Given the description of an element on the screen output the (x, y) to click on. 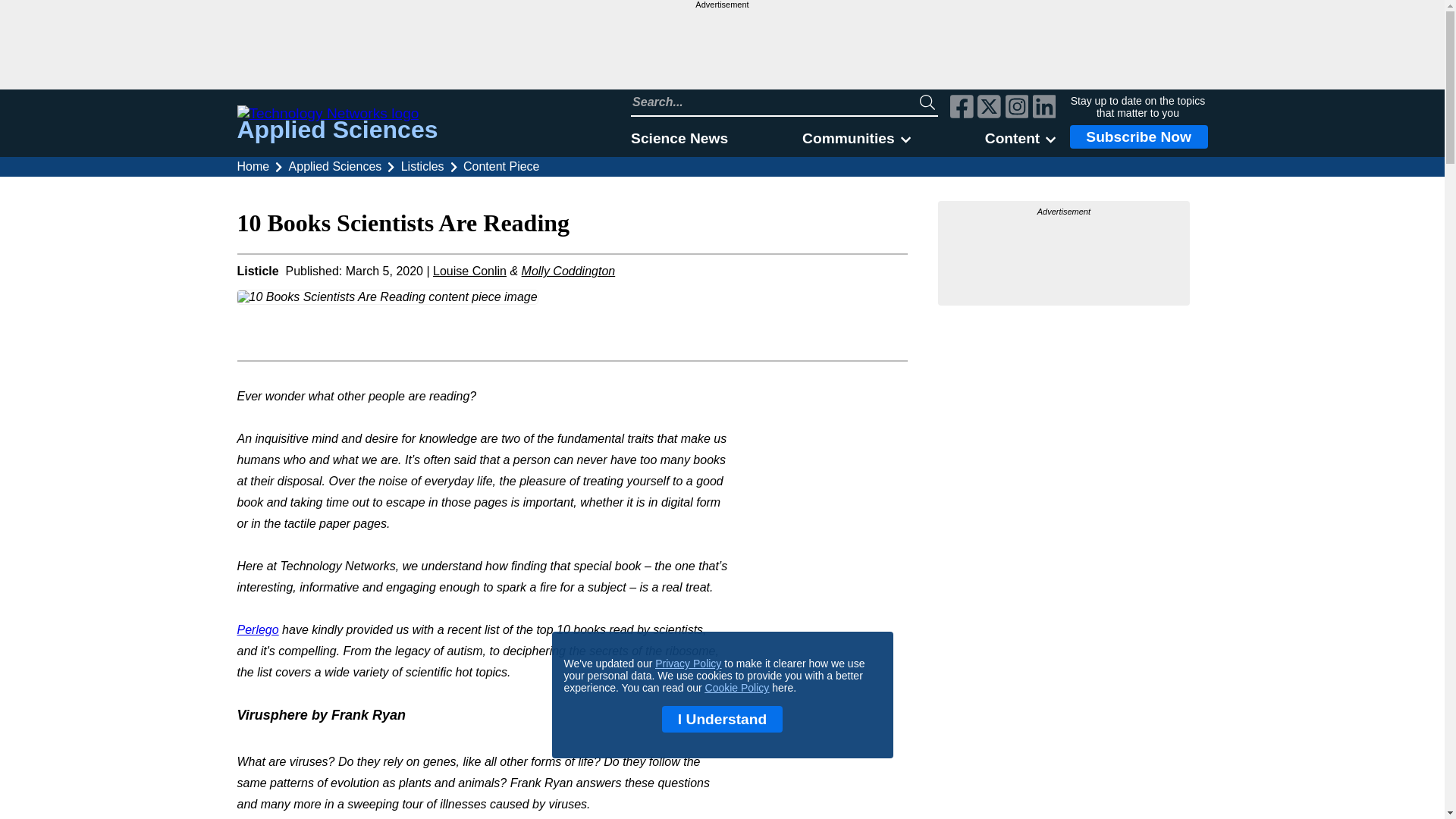
Cookie Policy (737, 687)
Search Technology Networks website input field (775, 102)
Privacy Policy (687, 663)
I Understand (722, 718)
Technology Networks logo (336, 113)
